Given the description of an element on the screen output the (x, y) to click on. 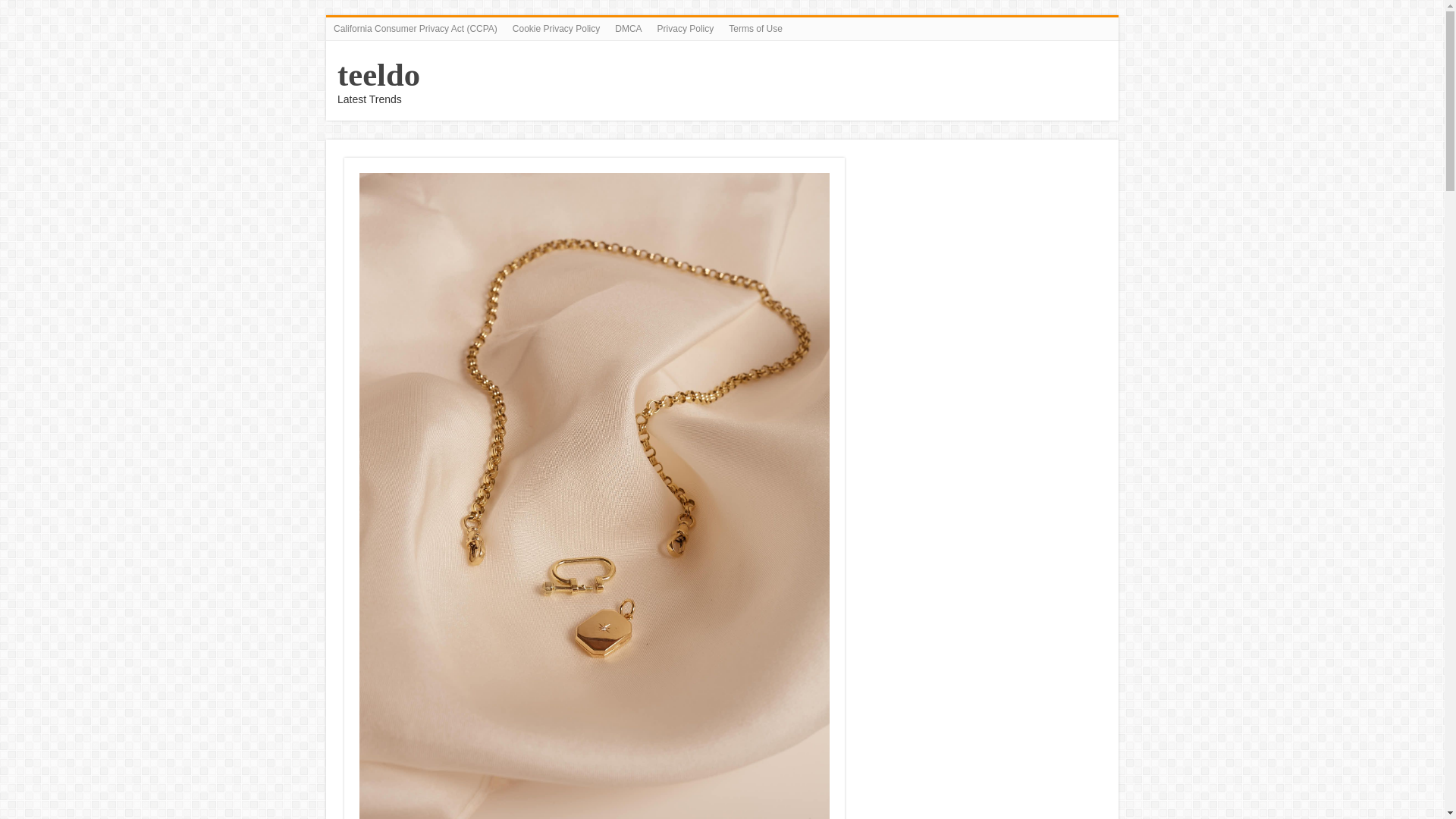
Terms of Use (755, 28)
Advertisement (982, 263)
teeldo (378, 74)
Privacy Policy (685, 28)
DMCA (628, 28)
Cookie Privacy Policy (556, 28)
